Given the description of an element on the screen output the (x, y) to click on. 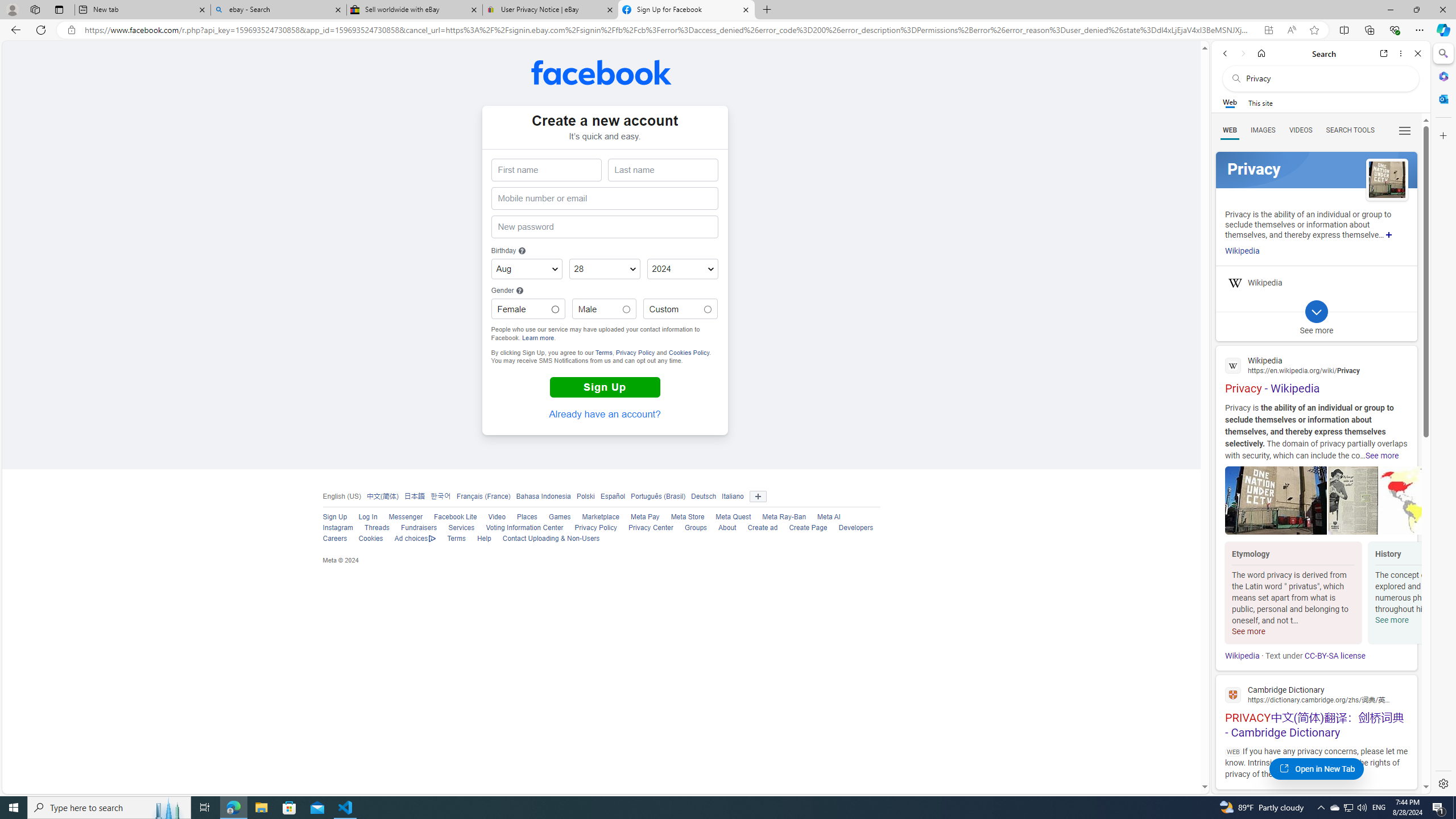
Services (455, 527)
Fundraisers (412, 527)
Female Male Custom (555, 309)
See more images of Privacy (1386, 179)
Instagram (337, 528)
